Given the description of an element on the screen output the (x, y) to click on. 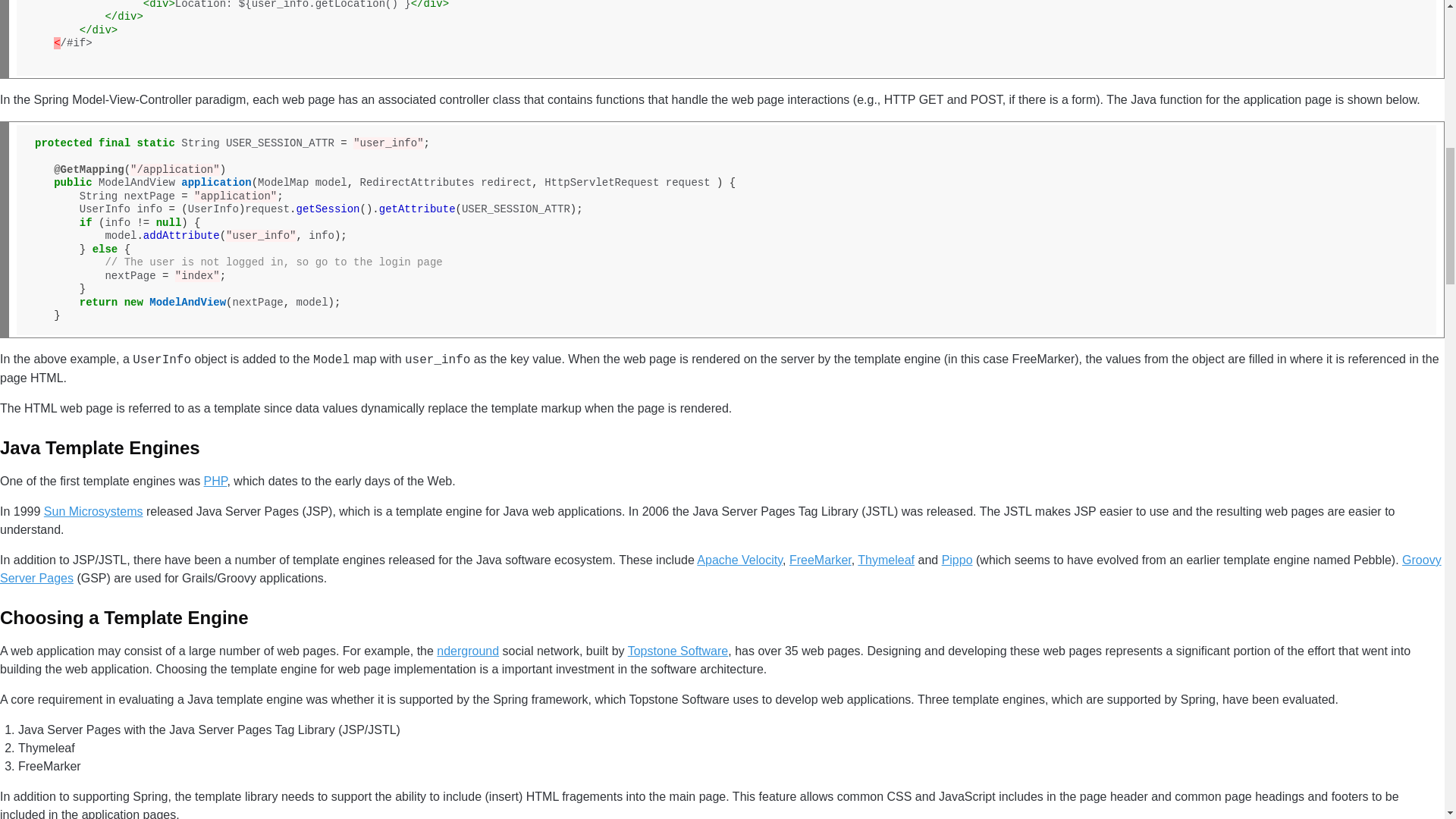
nderground (467, 650)
Apache Velocity (740, 559)
Sun Microsystems (92, 511)
Groovy Server Pages (720, 568)
PHP (215, 481)
Thymeleaf (885, 559)
Pippo (957, 559)
FreeMarker (820, 559)
Topstone Software (678, 650)
